Given the description of an element on the screen output the (x, y) to click on. 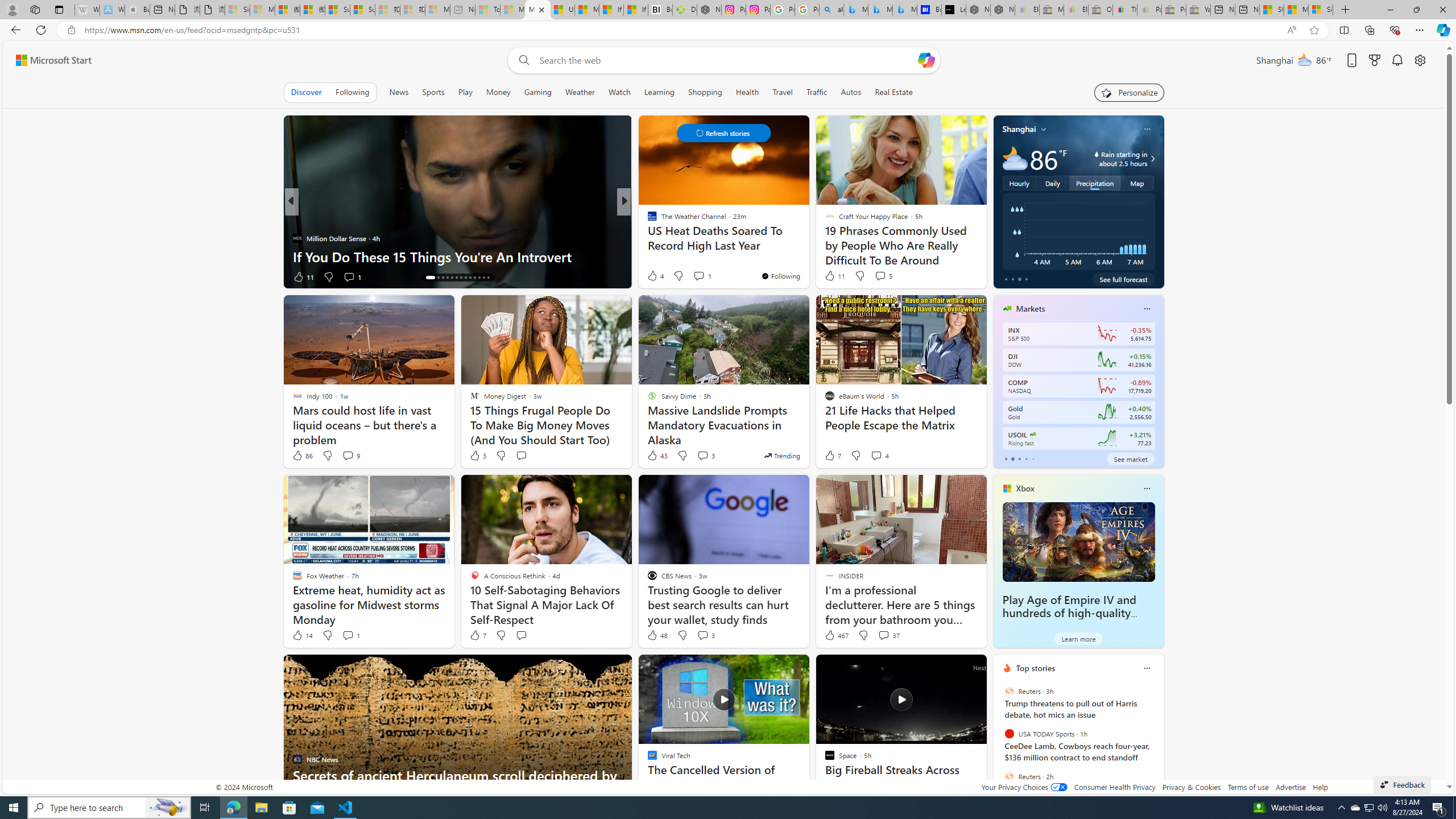
View comments 11 Comment (707, 276)
AutomationID: tab-22 (470, 277)
Xbox (1025, 488)
AutomationID: tab-15 (438, 277)
150 Like (654, 276)
